Given the description of an element on the screen output the (x, y) to click on. 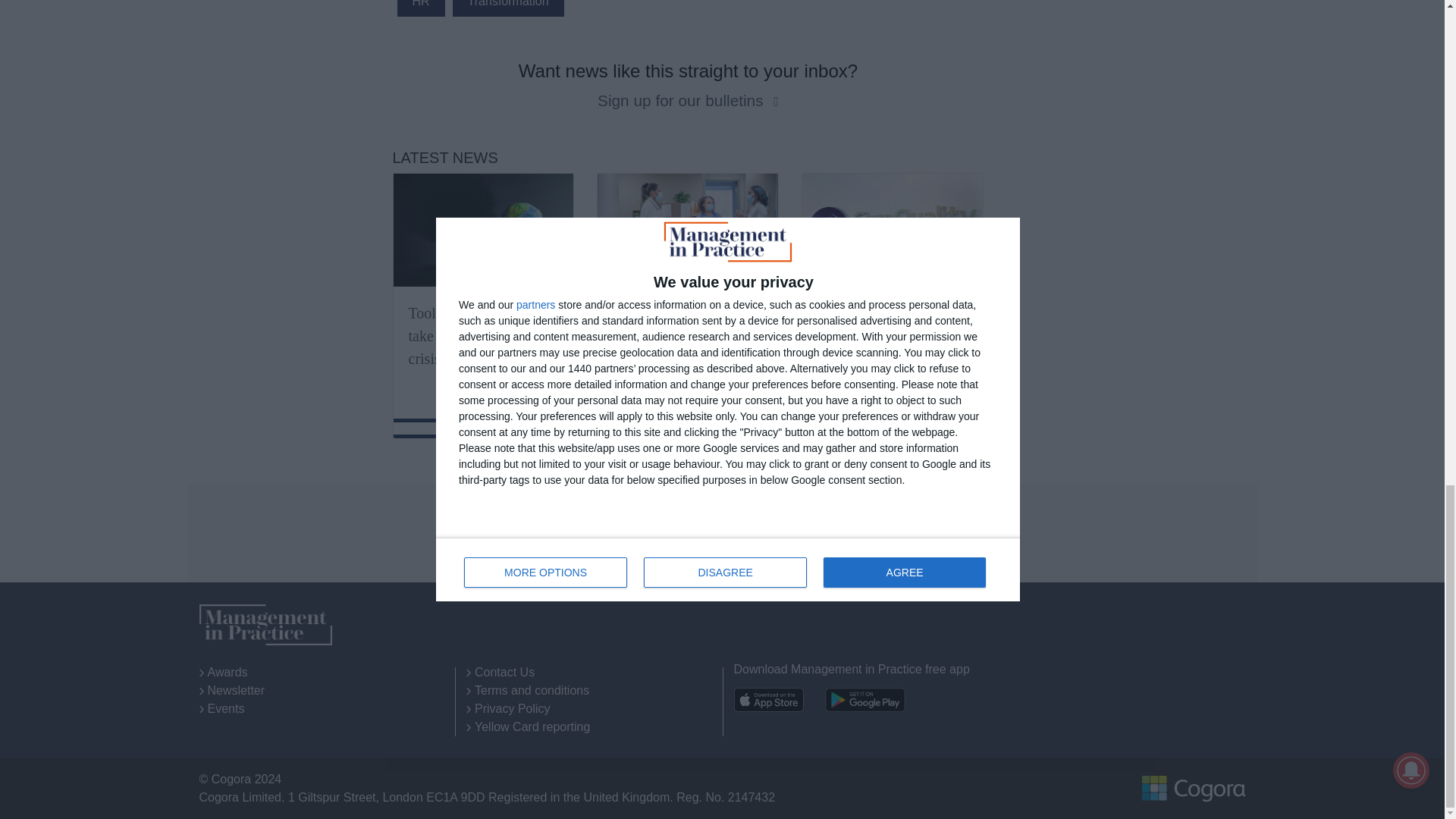
Sign up for our bulletins (681, 99)
Download our app from the Apple App Store (768, 699)
Download our app from Google Play (865, 699)
